Given the description of an element on the screen output the (x, y) to click on. 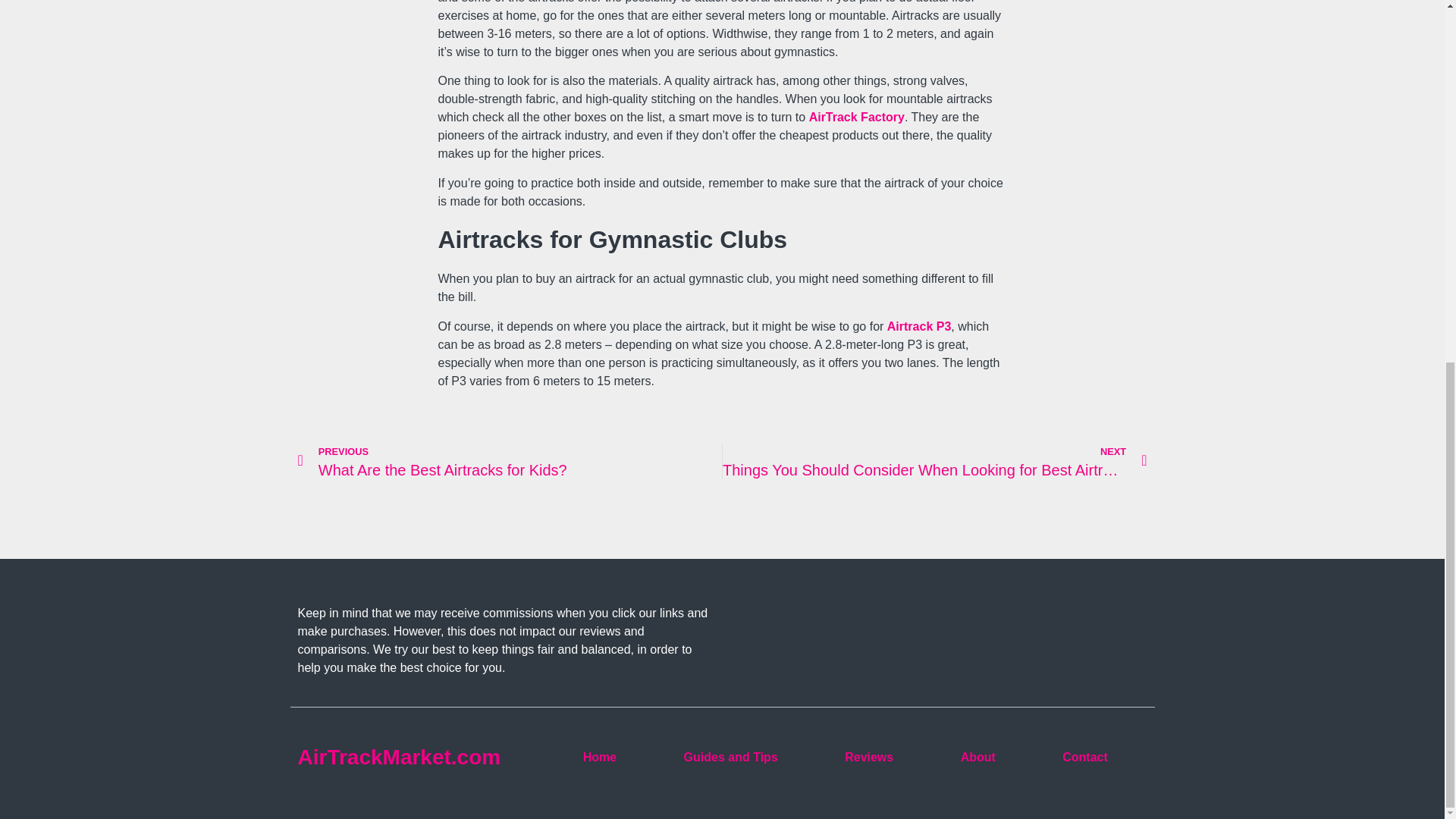
AirTrack Factory (856, 116)
Airtrack P3 (919, 326)
About (977, 757)
Reviews (868, 757)
Home (598, 757)
Guides and Tips (729, 757)
Contact (1085, 757)
AirTrackMarket.com (509, 461)
